Given the description of an element on the screen output the (x, y) to click on. 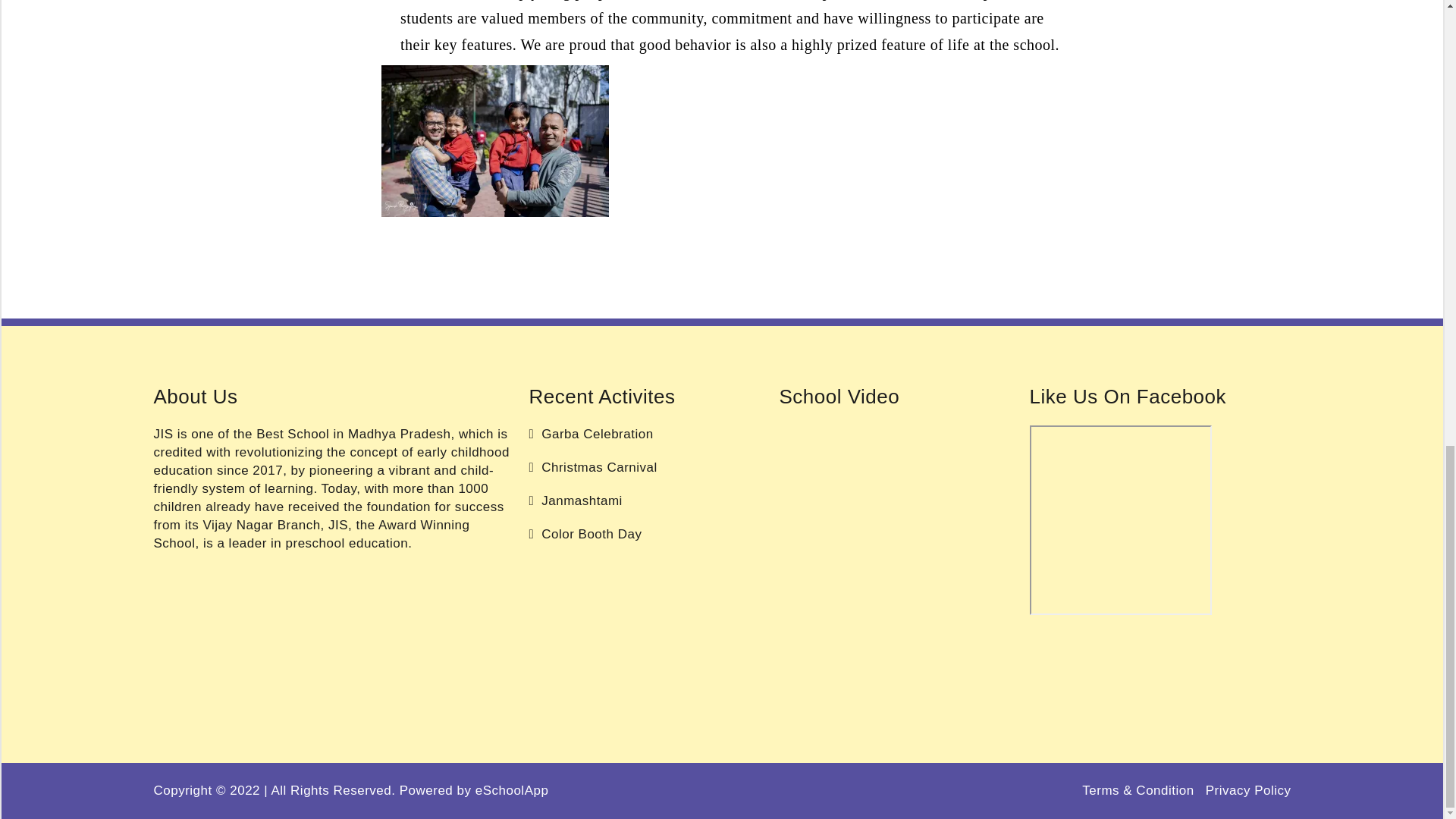
Garba Celebration (591, 432)
YouTube video player (892, 481)
Christmas Carnival (593, 466)
